Given the description of an element on the screen output the (x, y) to click on. 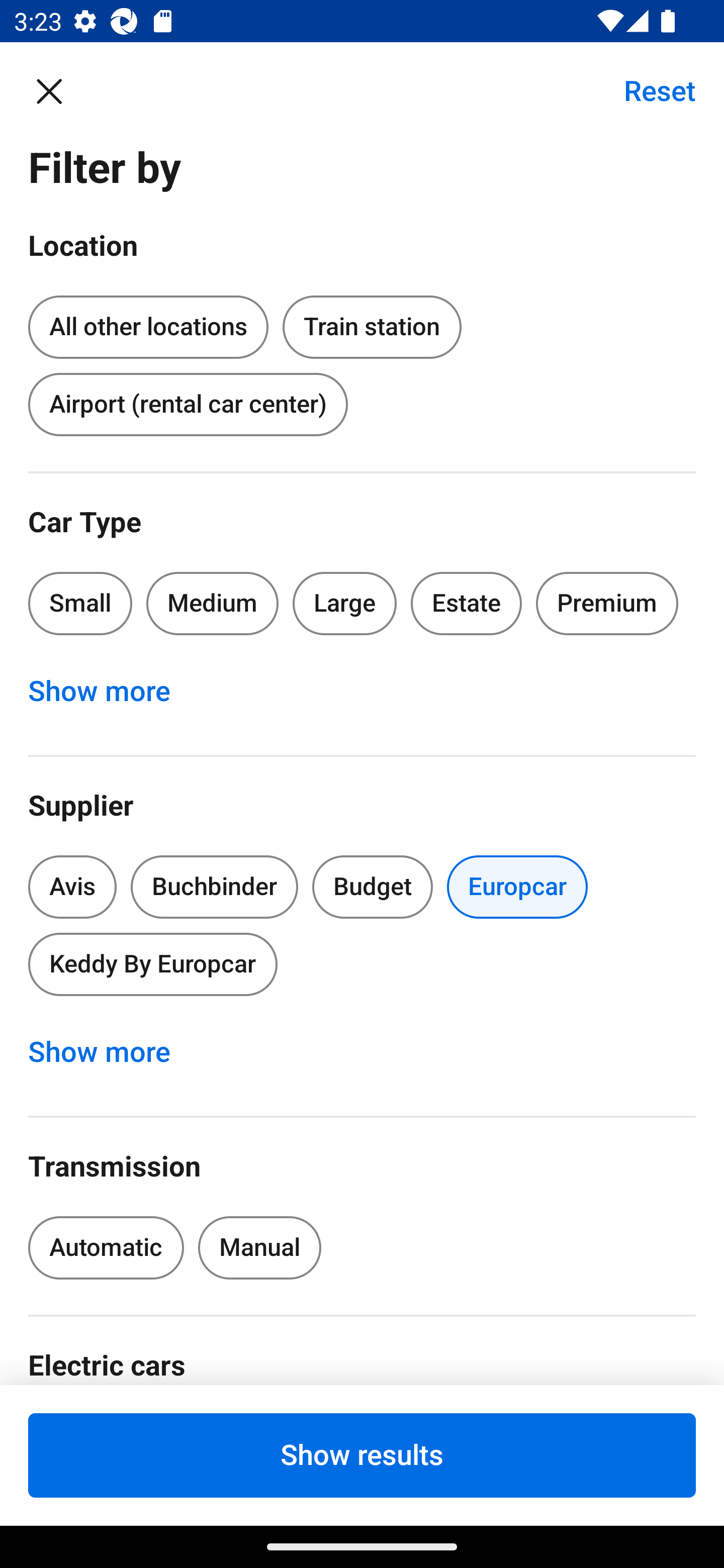
Close (59, 90)
Reset (649, 90)
All other locations (148, 323)
Train station (371, 327)
Airport (rental car center) (187, 404)
Small (80, 603)
Medium (212, 603)
Large (344, 603)
Estate (466, 603)
Premium (606, 603)
Show more (109, 691)
Avis (72, 887)
Buchbinder (214, 887)
Budget (372, 887)
Keddy By Europcar (152, 963)
Show more (109, 1051)
Automatic (105, 1247)
Manual (259, 1247)
Show results (361, 1454)
